Given the description of an element on the screen output the (x, y) to click on. 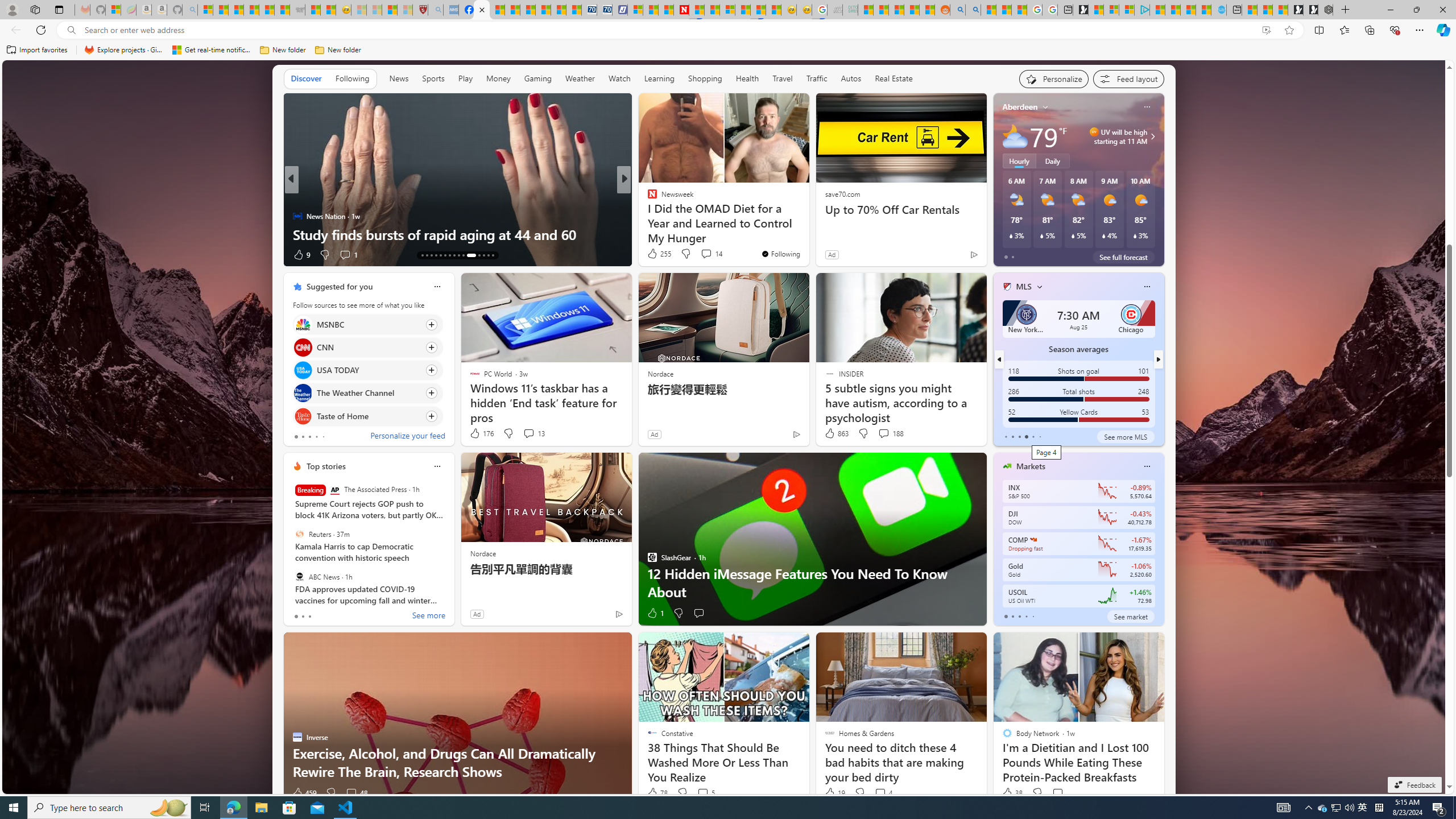
Cheap Hotels - Save70.com (604, 9)
15 Breakfast Recipes That Keep Your Blood Sugar In Check (807, 225)
Class: icon-img (1146, 465)
View comments 4 Comment (879, 792)
View comments 2 Comment (6, 254)
